Given the description of an element on the screen output the (x, y) to click on. 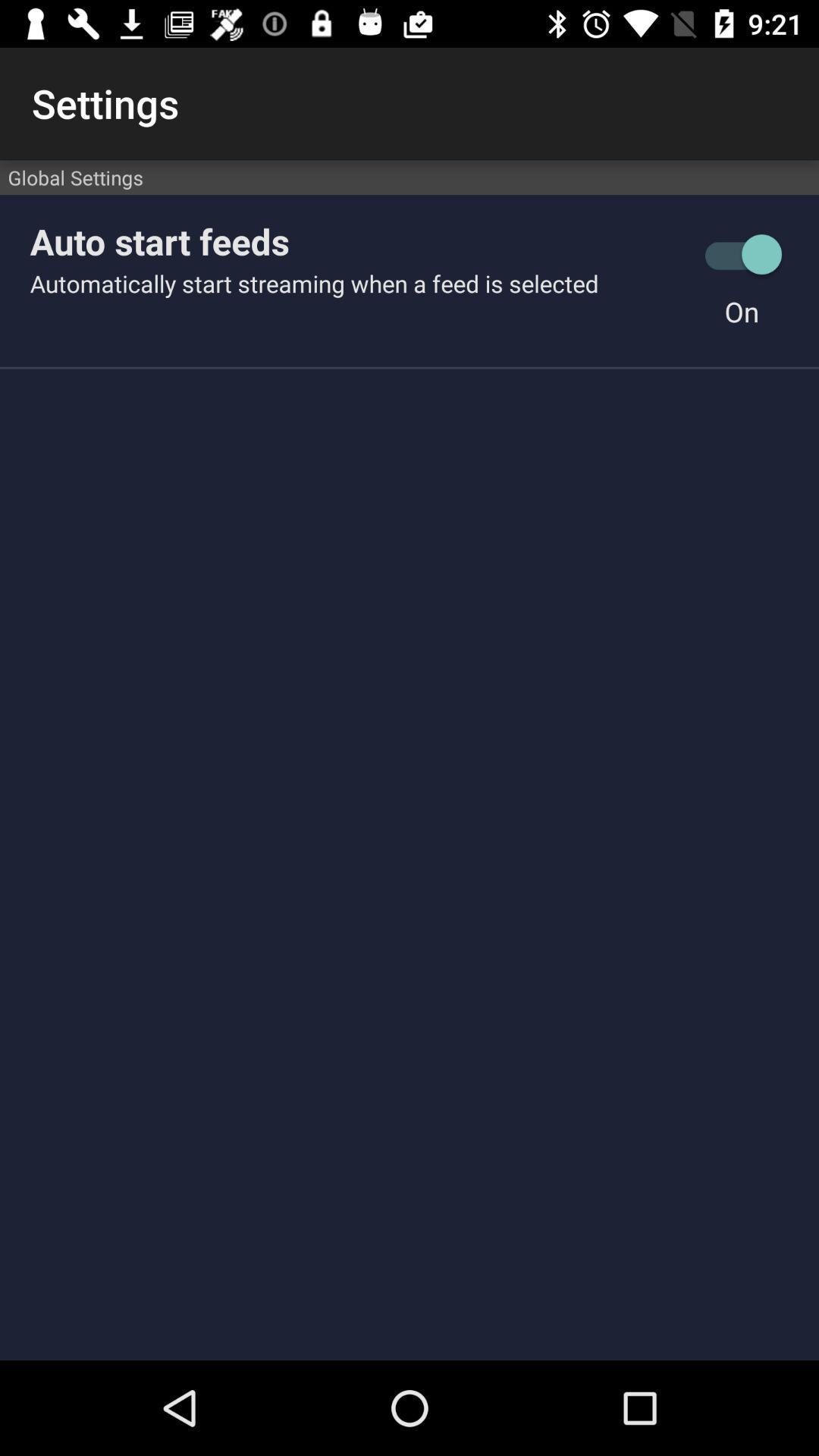
select auto start feeds (357, 241)
